Given the description of an element on the screen output the (x, y) to click on. 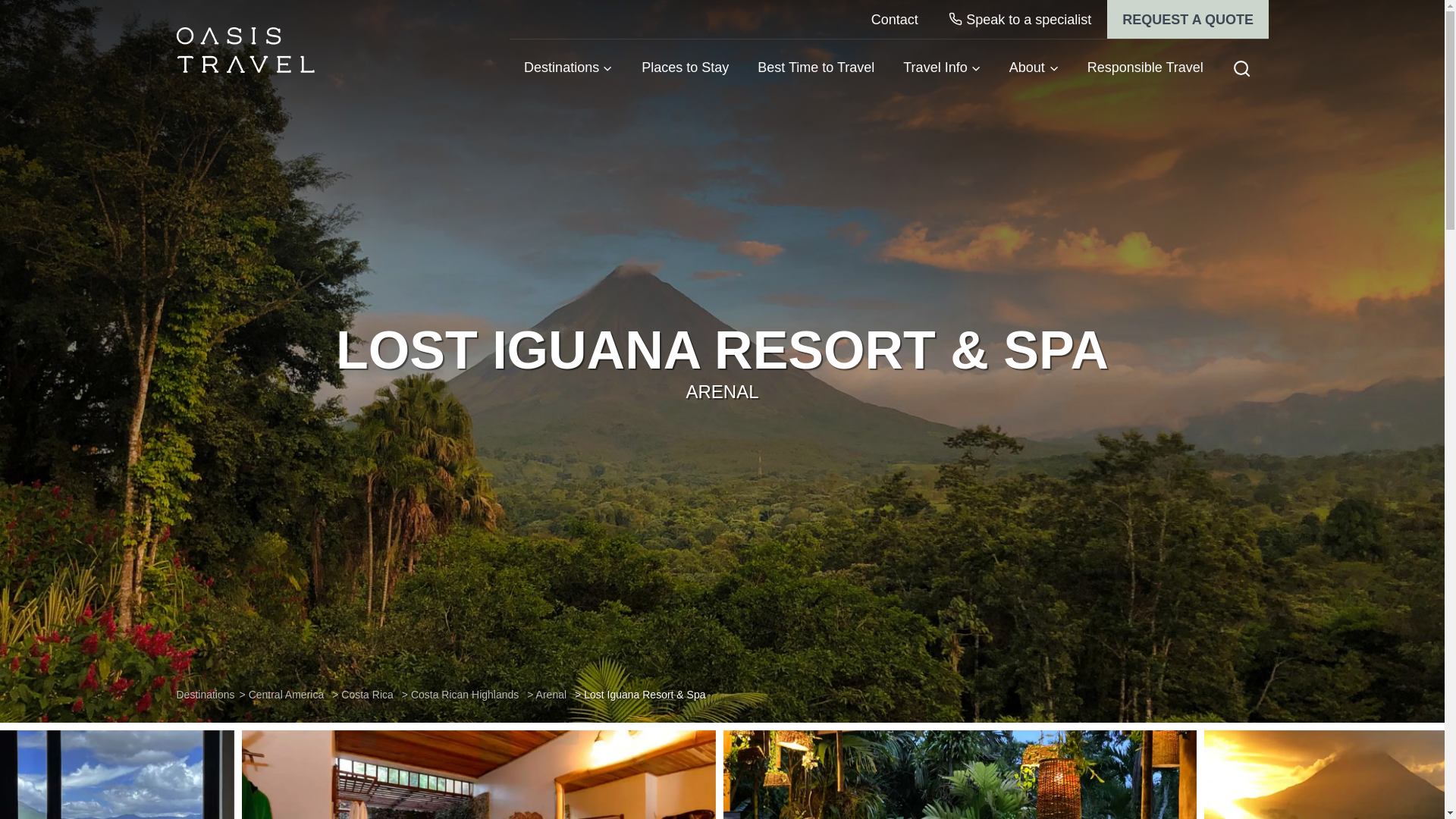
Contact (894, 19)
REQUEST A QUOTE (1187, 19)
Destinations (568, 66)
Speak to a specialist (1019, 19)
